Given the description of an element on the screen output the (x, y) to click on. 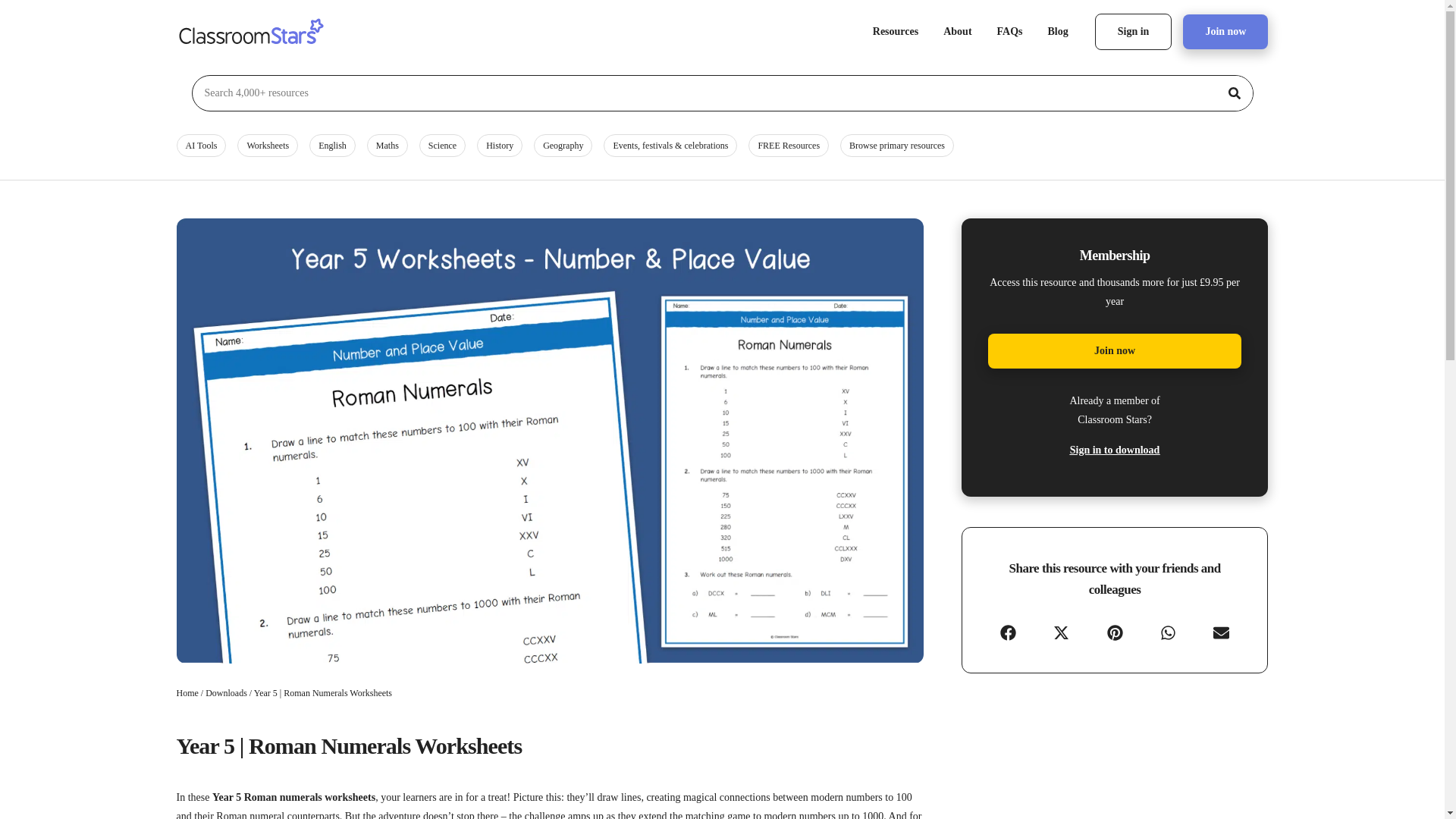
FAQs (1009, 31)
English (331, 145)
History (499, 145)
Sign in (1133, 31)
Resources (895, 31)
FREE Resources (788, 145)
Join now (1225, 31)
Science (442, 145)
Blog (1058, 31)
About (956, 31)
AI Tools (200, 145)
Maths (386, 145)
Downloads (226, 692)
Join now (1114, 350)
Geography (563, 145)
